Given the description of an element on the screen output the (x, y) to click on. 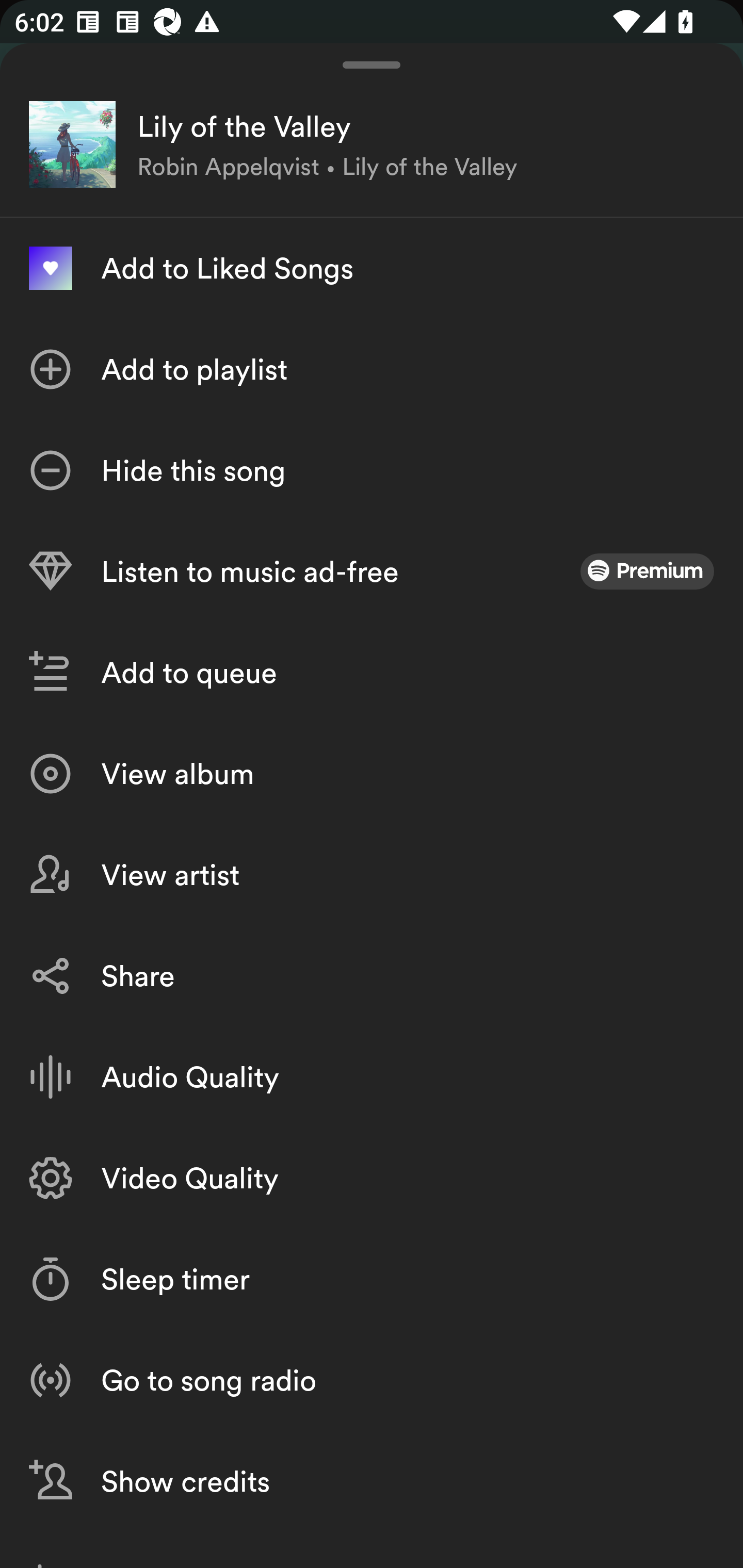
Add to Liked Songs (371, 267)
Add to playlist (371, 369)
Hide this song (371, 470)
Listen to music ad-free (371, 571)
Add to queue (371, 672)
View album (371, 773)
View artist (371, 874)
Share (371, 976)
Audio Quality (371, 1077)
Video Quality (371, 1178)
Sleep timer (371, 1279)
Go to song radio (371, 1379)
Show credits (371, 1480)
